Given the description of an element on the screen output the (x, y) to click on. 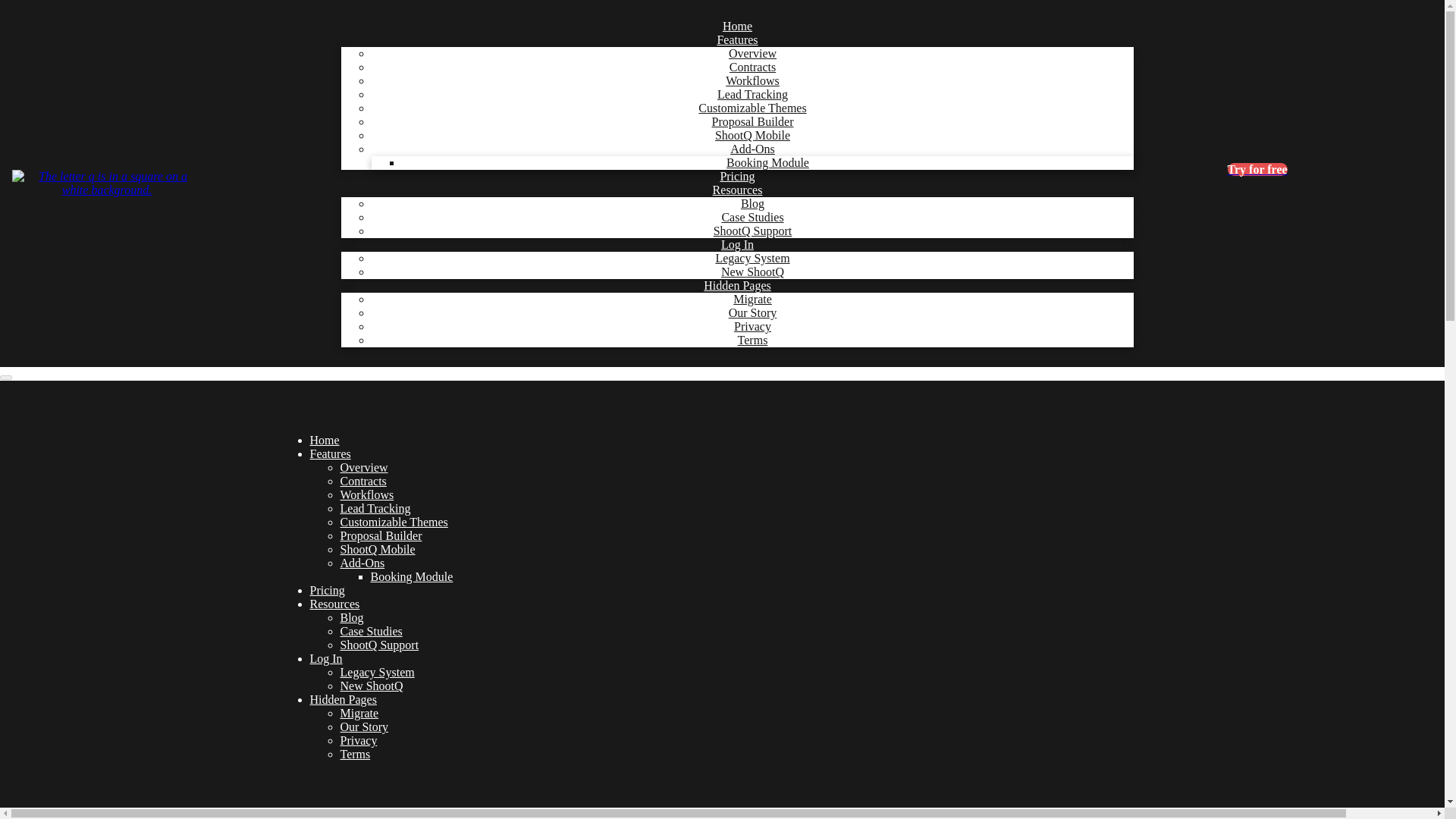
New ShootQ (752, 271)
Hidden Pages (737, 285)
Our Story (753, 312)
Booking Module (410, 576)
Resources (333, 603)
ShootQ Mobile (376, 549)
Features (737, 39)
Add-Ons (752, 148)
Customizable Themes (392, 521)
Resources (737, 189)
Workflows (366, 494)
Lead Tracking (752, 93)
Workflows (751, 80)
Home (737, 25)
Lead Tracking (374, 508)
